Given the description of an element on the screen output the (x, y) to click on. 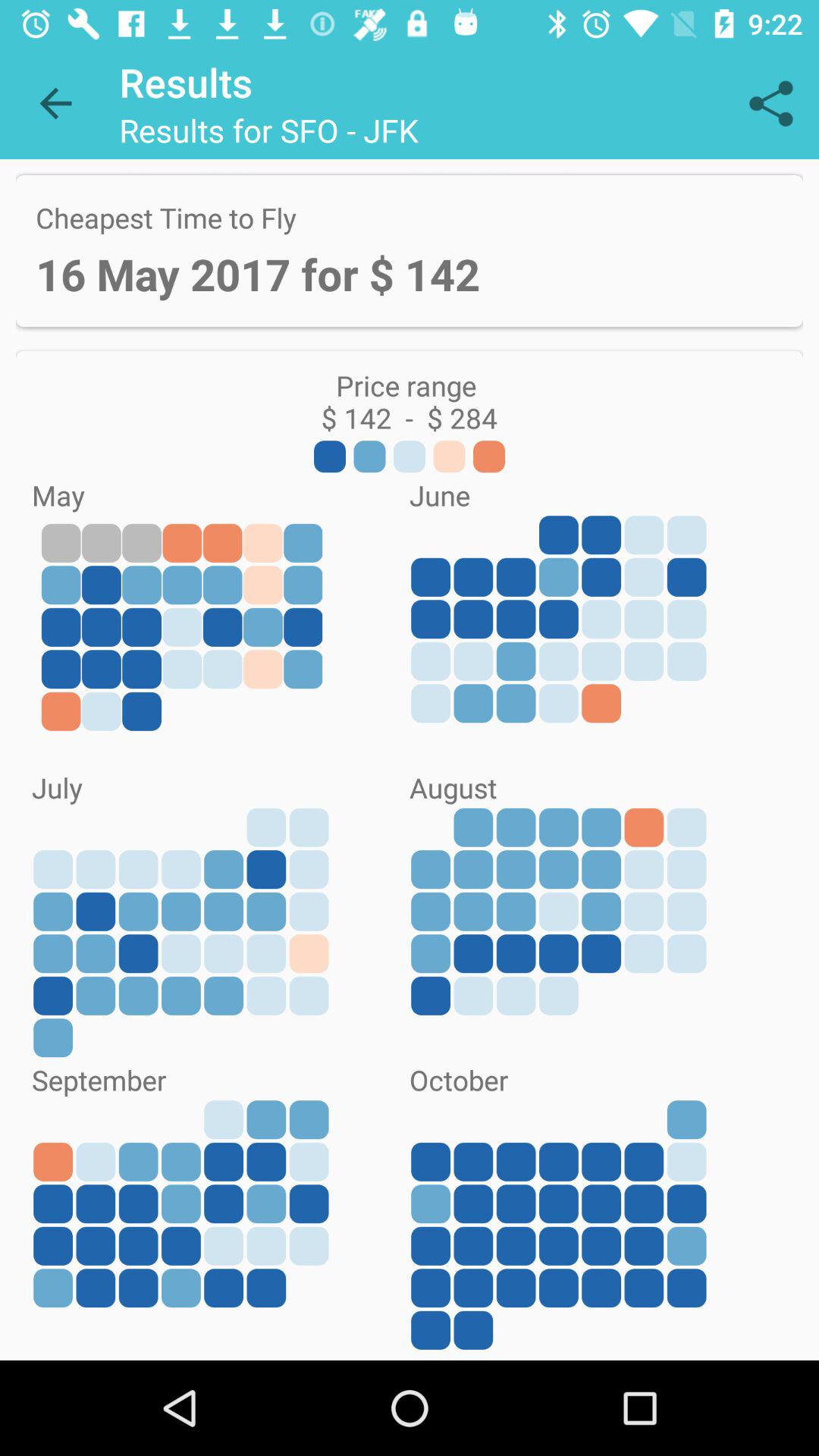
turn on the icon at the top right corner (771, 103)
